Given the description of an element on the screen output the (x, y) to click on. 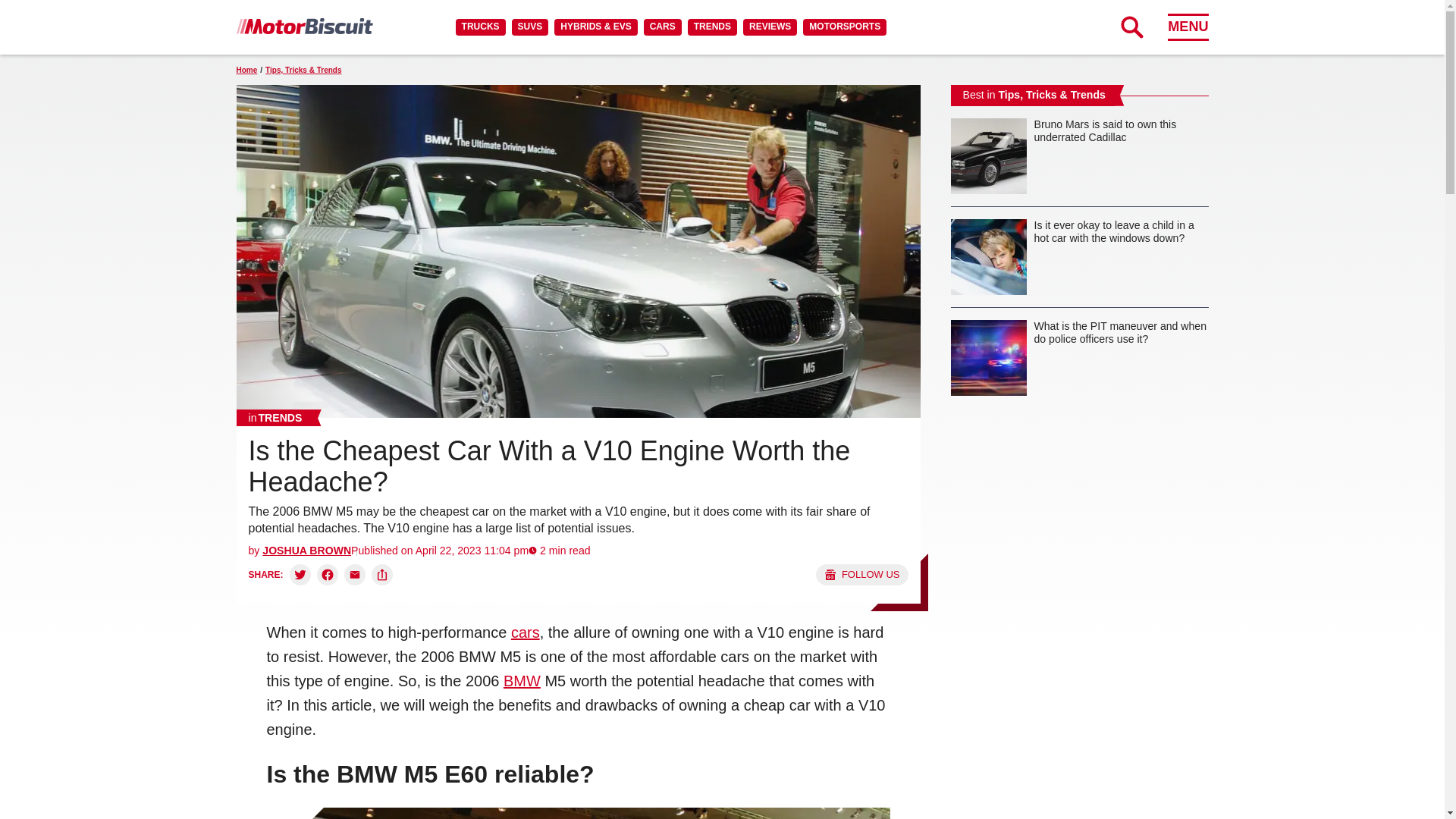
Copy link and share:  (382, 574)
REVIEWS (769, 26)
Follow us on Google News (861, 574)
CARS (662, 26)
SUVS (530, 26)
MENU (1187, 26)
Trends (274, 417)
MOTORSPORTS (844, 26)
MotorBiscuit (303, 26)
